Given the description of an element on the screen output the (x, y) to click on. 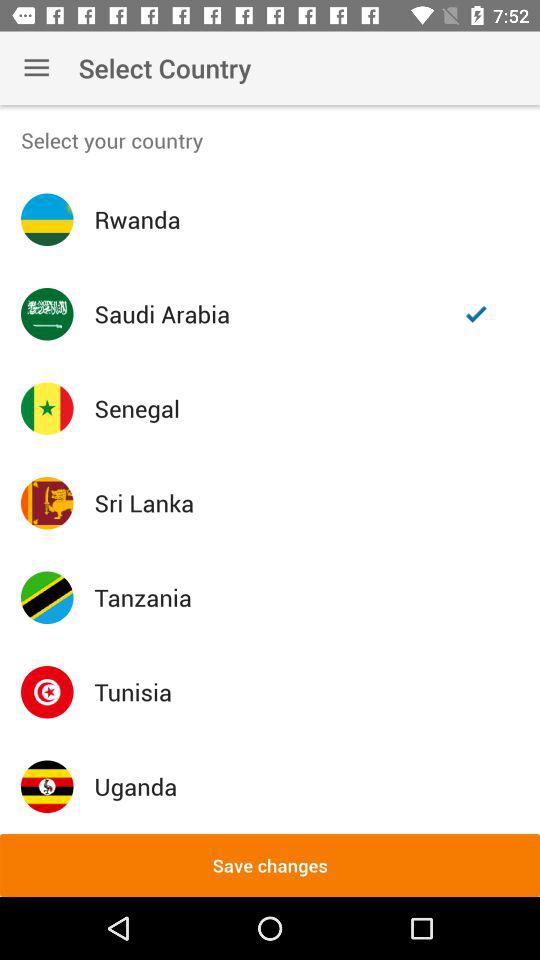
scroll until save changes (270, 864)
